Given the description of an element on the screen output the (x, y) to click on. 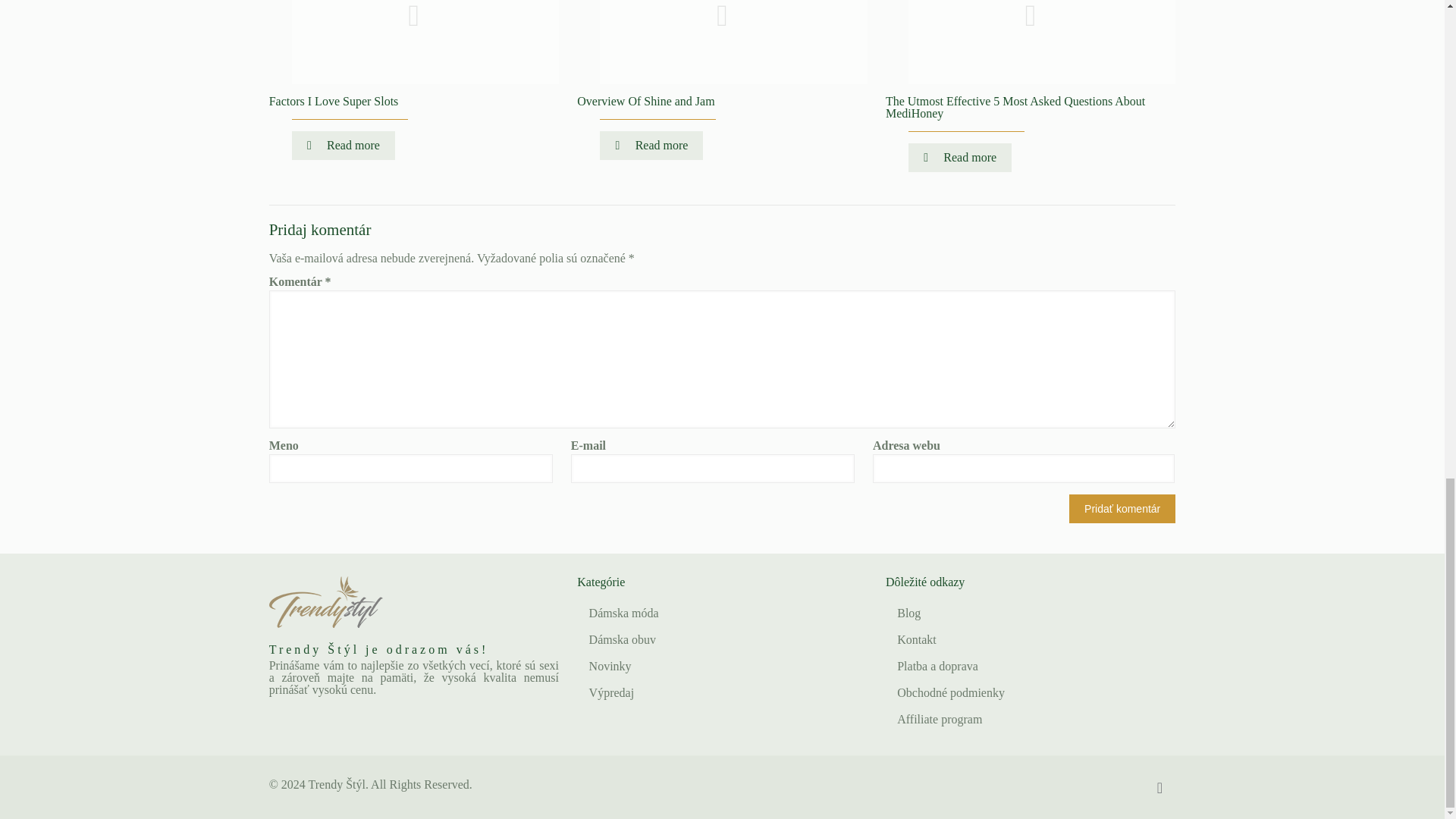
Read more (343, 145)
Factors I Love Super Slots (333, 101)
Overview Of Shine and Jam (645, 101)
trendystyl logo footer (325, 602)
Read more (651, 145)
The Utmost Effective 5 Most Asked Questions About MediHoney (1014, 107)
